Given the description of an element on the screen output the (x, y) to click on. 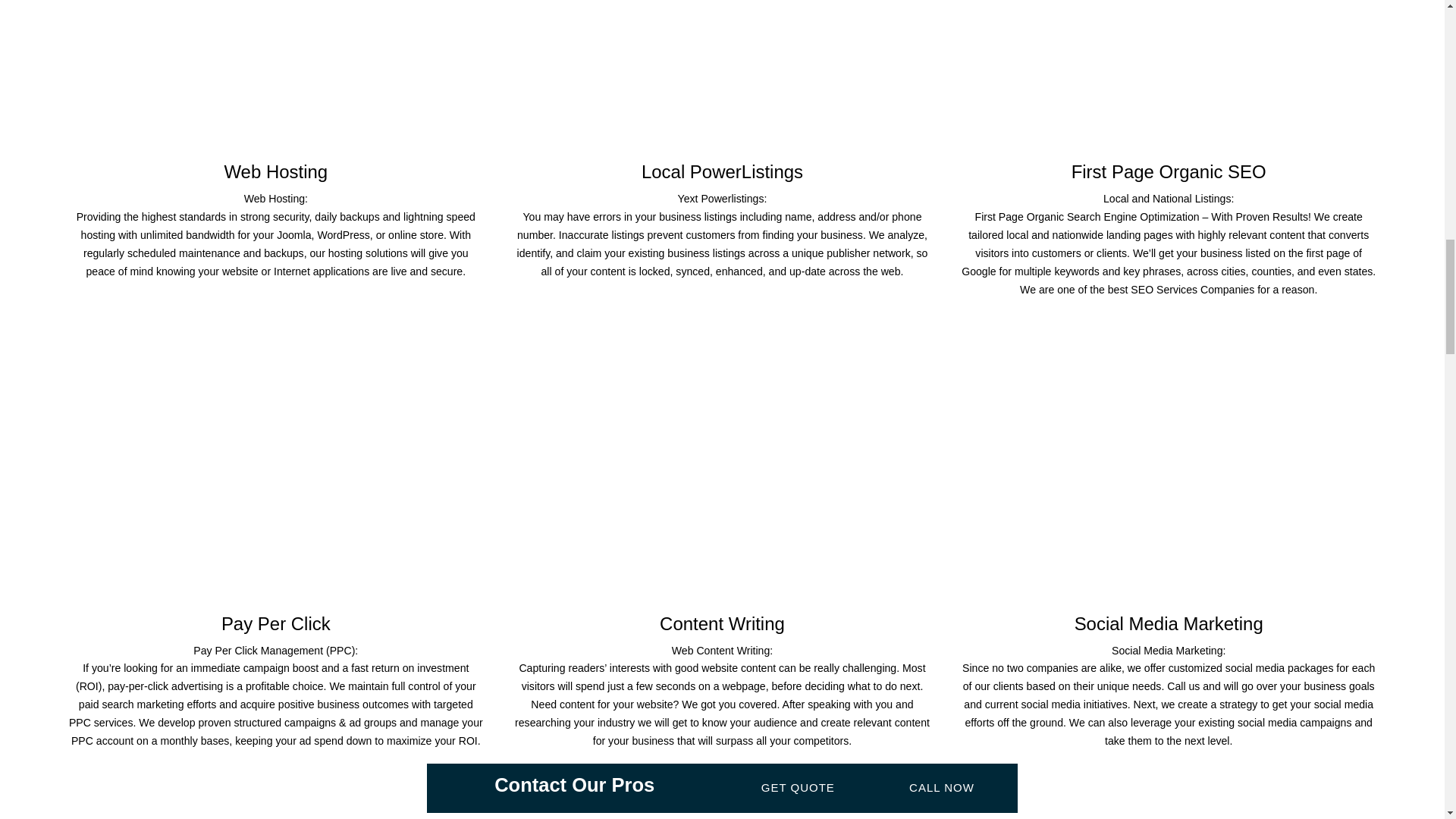
Local and National Listings: (1168, 198)
Social Media Marketing: (1168, 650)
Web Content Writing: (722, 650)
Web Hosting: (275, 198)
Yext Powerlistings: (722, 198)
